Given the description of an element on the screen output the (x, y) to click on. 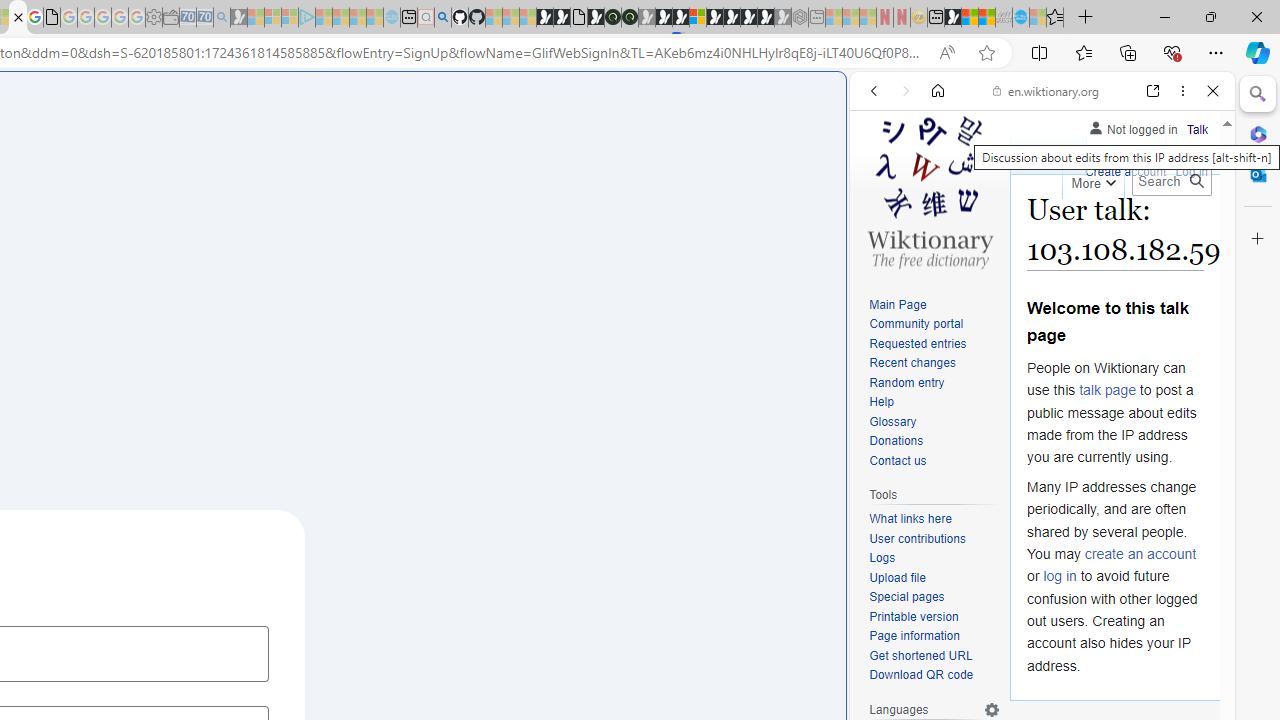
log in (1059, 576)
Settings - Sleeping (153, 17)
Frequently visited (418, 265)
User page (1048, 154)
Search or enter web address (343, 191)
User contributions (934, 539)
Recent changes (912, 362)
Go (1196, 181)
